Given the description of an element on the screen output the (x, y) to click on. 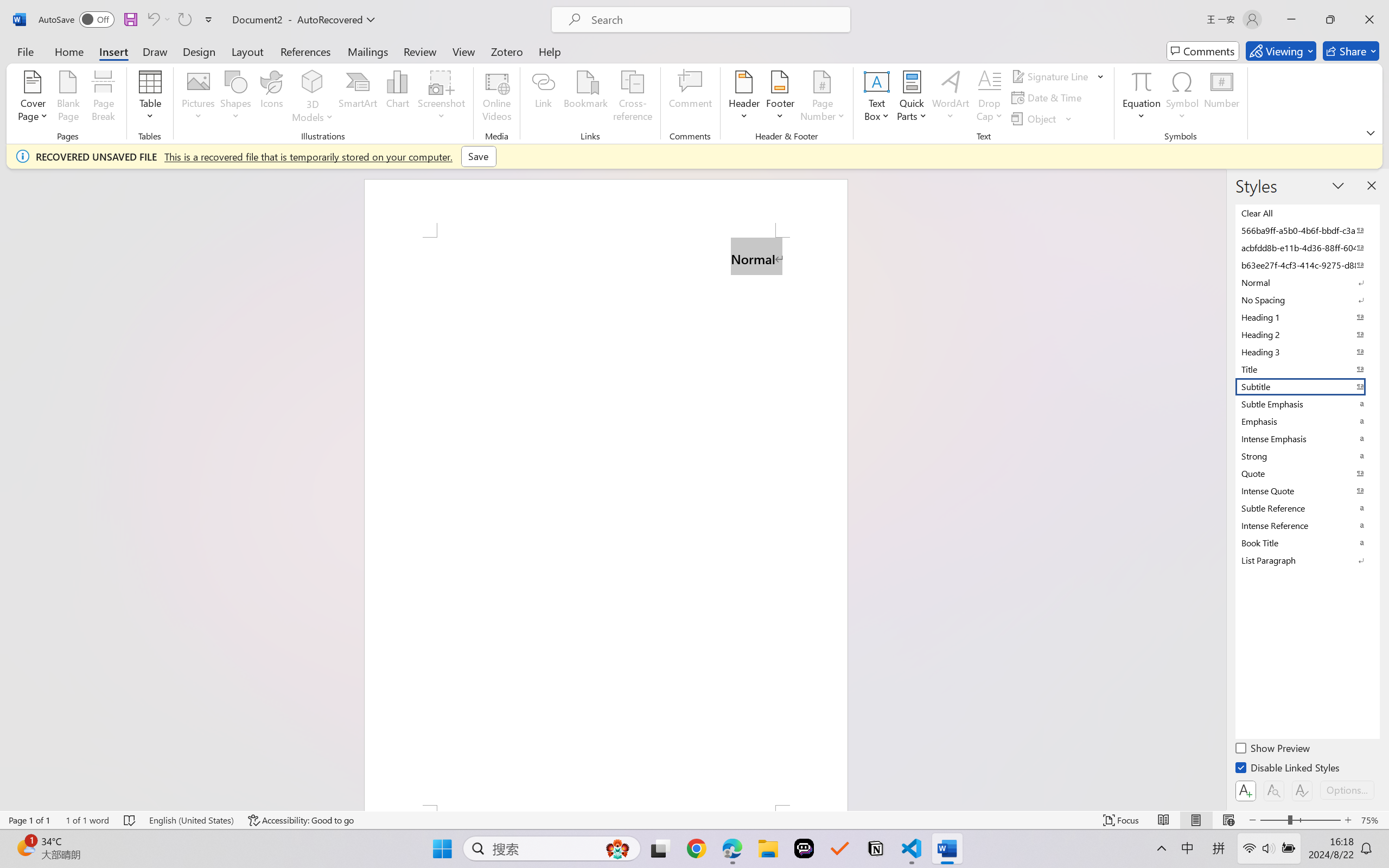
Header (743, 97)
Signature Line (1051, 75)
Drop Cap (989, 97)
Strong (1306, 456)
Intense Quote (1306, 490)
Class: MsoCommandBar (694, 819)
Icons (271, 97)
Zoom 75% (1372, 819)
Equation (1141, 97)
